Given the description of an element on the screen output the (x, y) to click on. 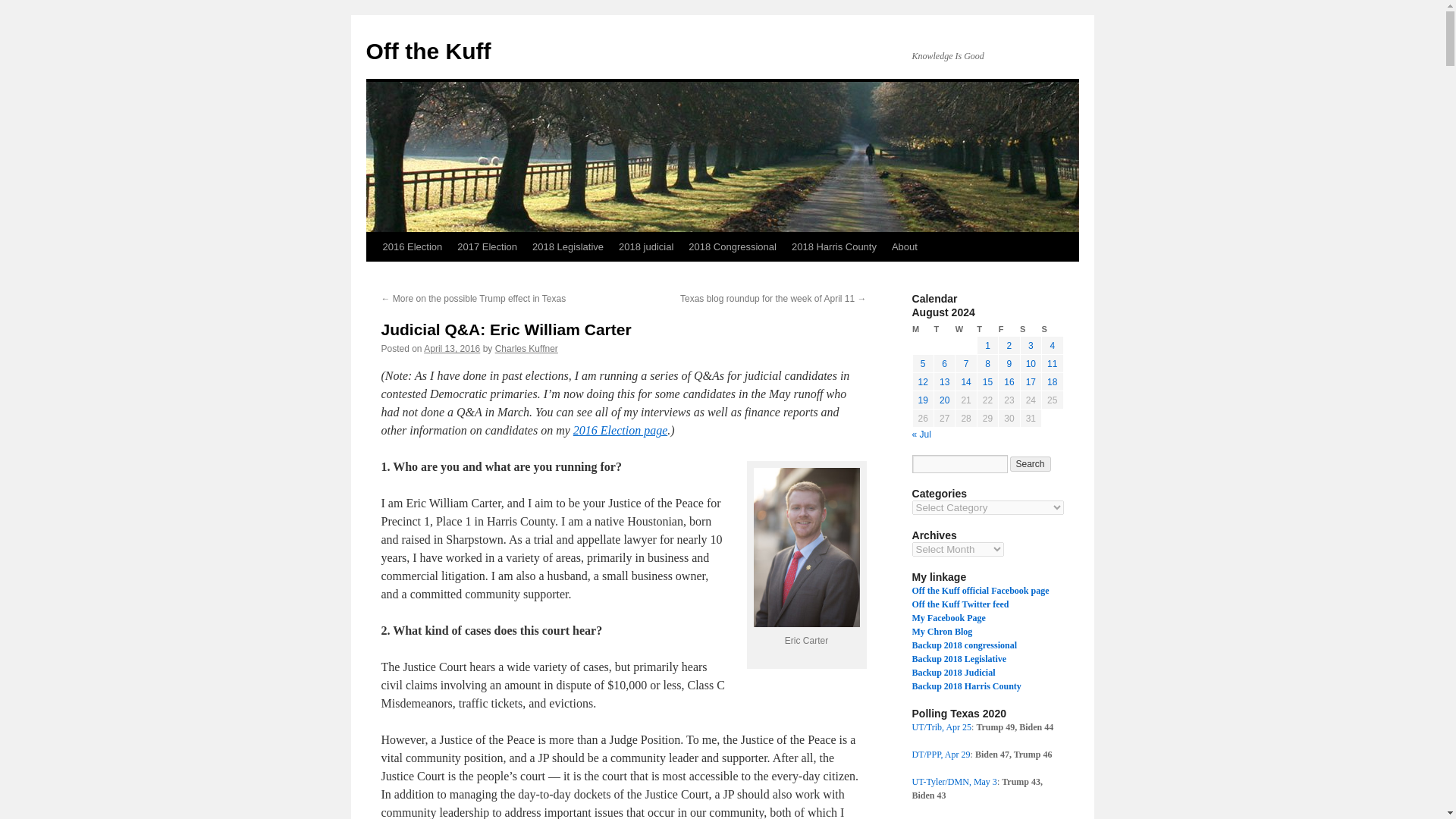
Saturday (1030, 329)
2018 Legislative (567, 246)
Thursday (986, 329)
Monday (922, 329)
2018 Harris County (833, 246)
View all posts by Charles Kuffner (526, 348)
2018 Congressional (732, 246)
2016 Election (411, 246)
April 13, 2016 (451, 348)
Tuesday (944, 329)
